Given the description of an element on the screen output the (x, y) to click on. 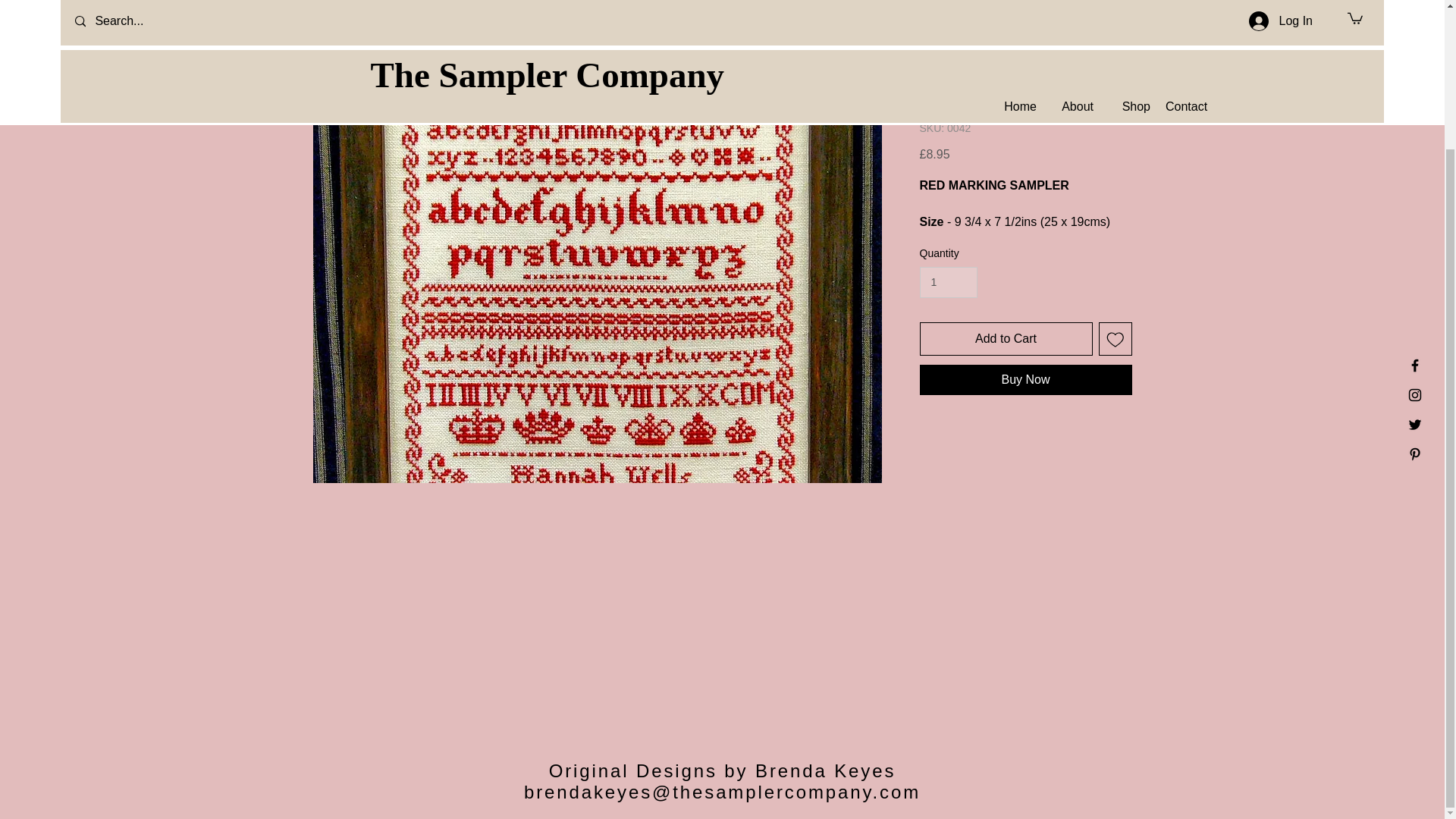
Buy Now (1024, 379)
Add to Cart (1005, 338)
1 (947, 282)
